Given the description of an element on the screen output the (x, y) to click on. 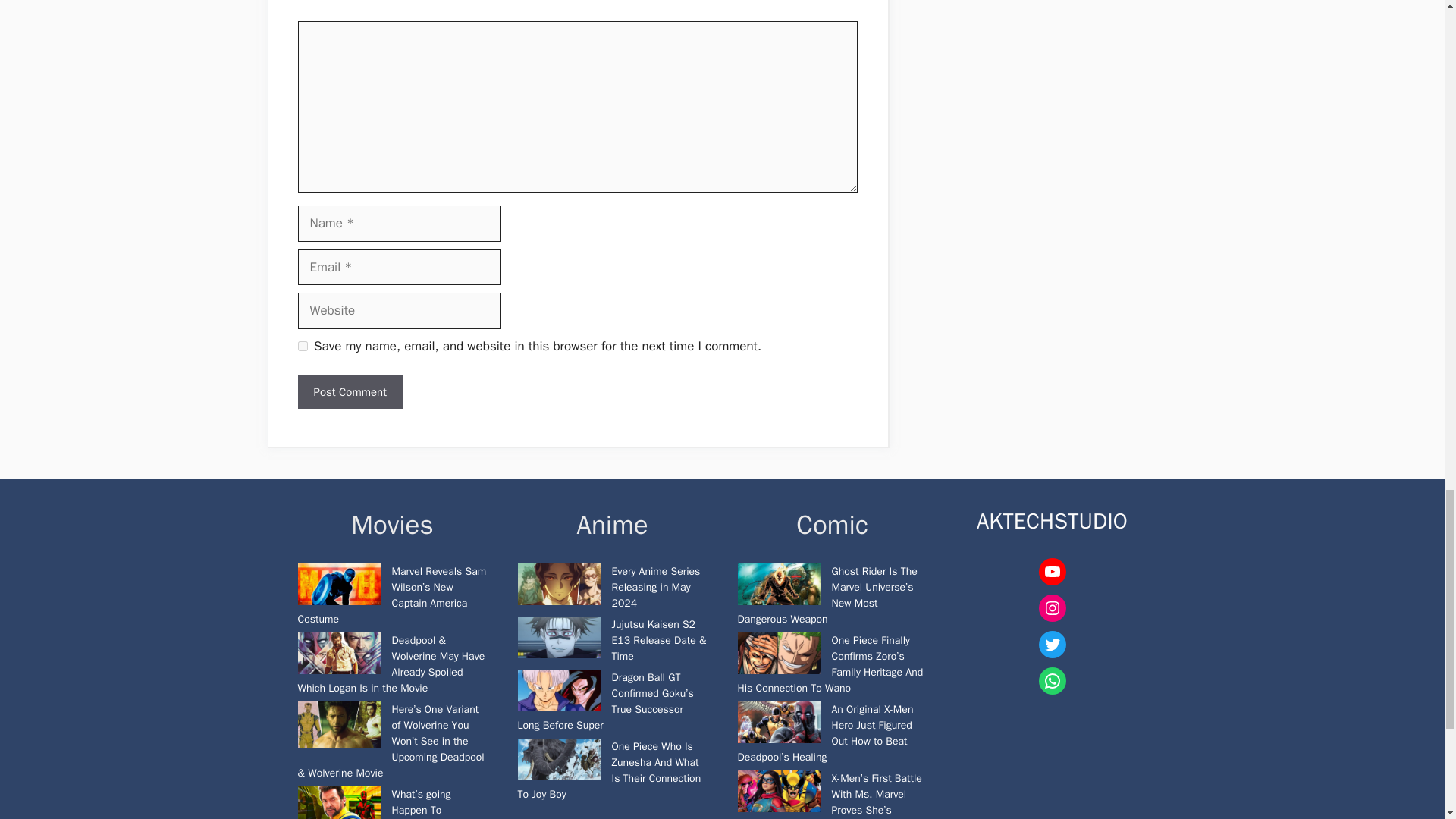
Post Comment (349, 392)
yes (302, 346)
Post Comment (349, 392)
